Given the description of an element on the screen output the (x, y) to click on. 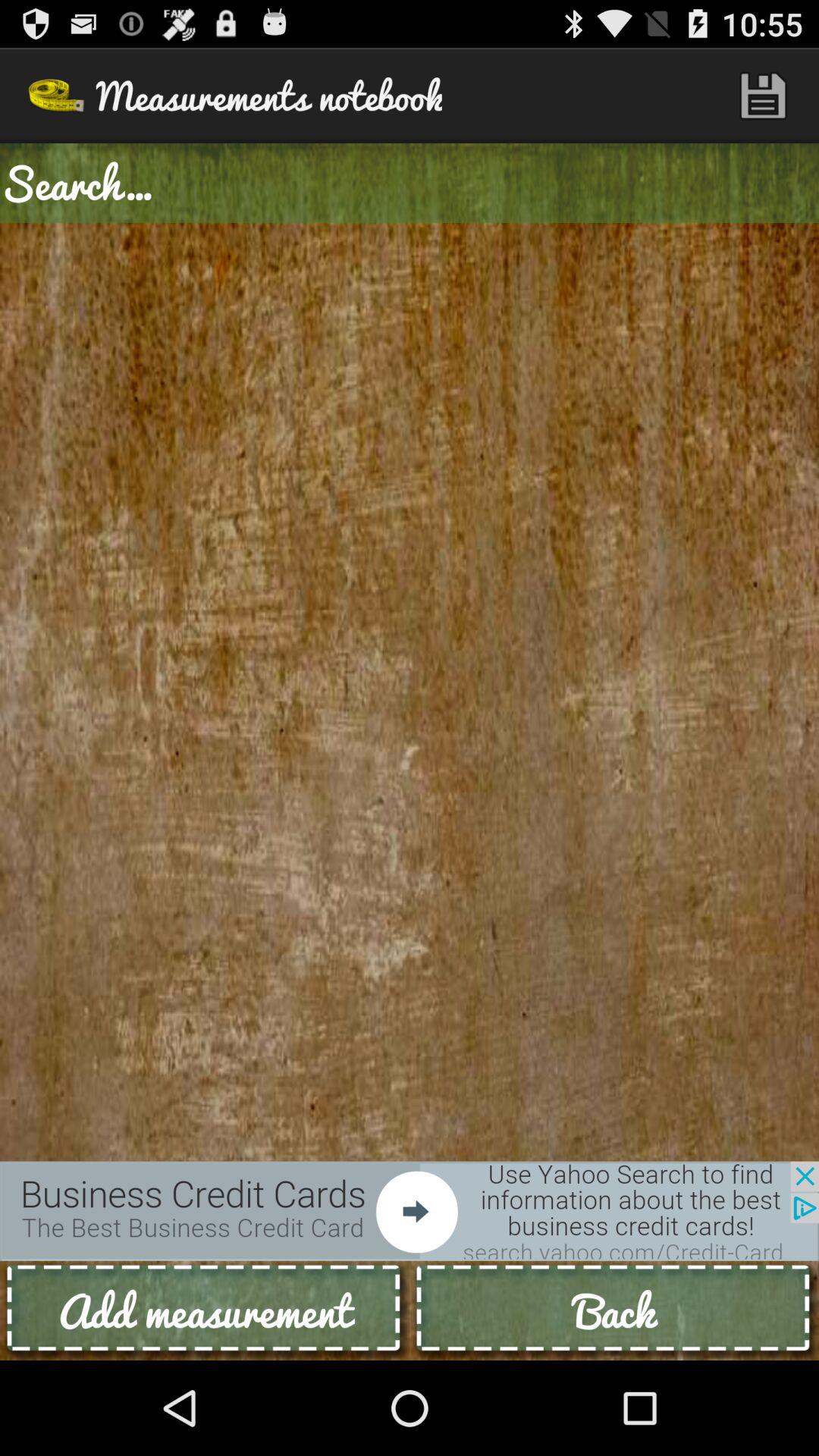
search button (409, 182)
